Given the description of an element on the screen output the (x, y) to click on. 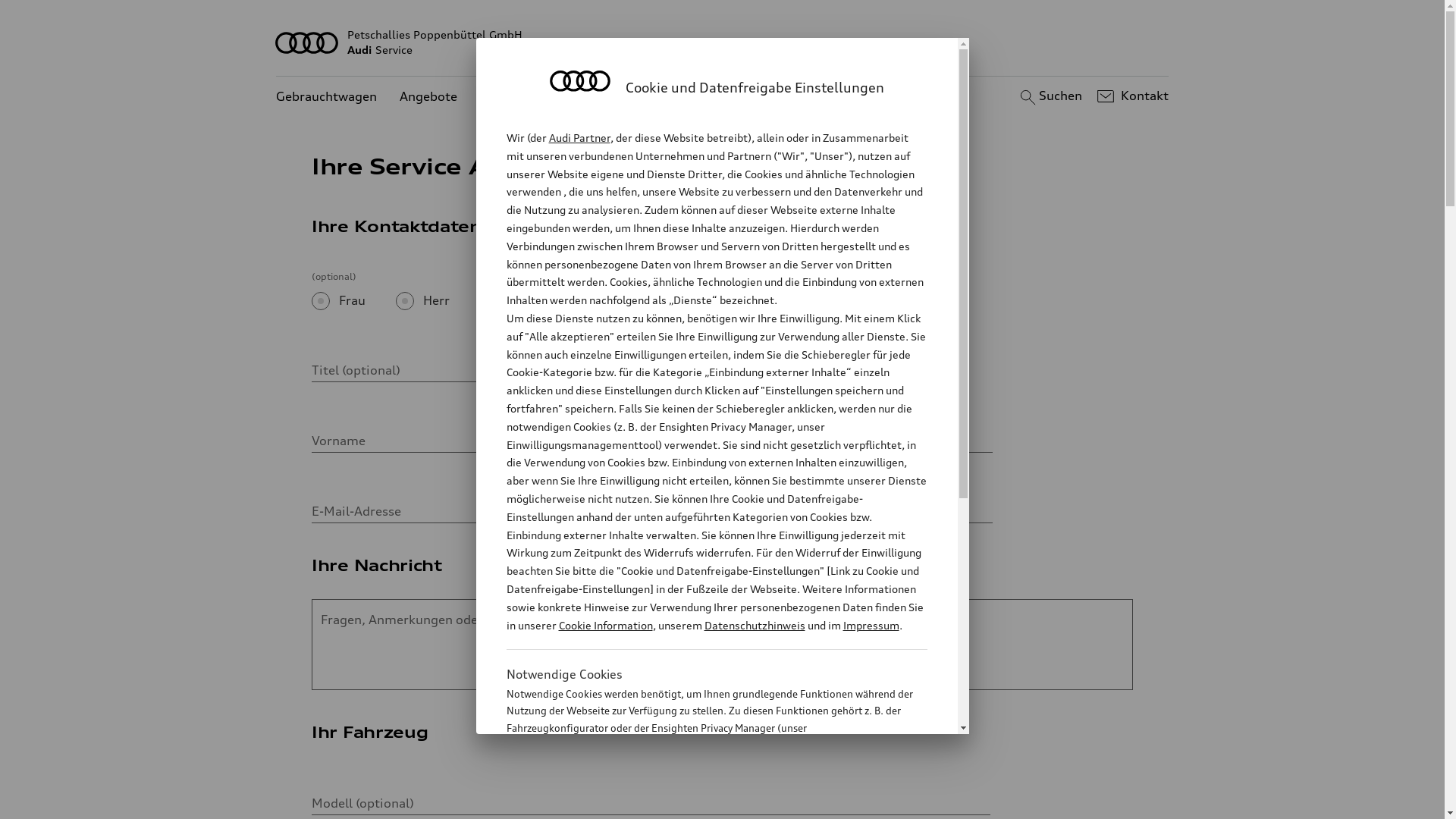
Cookie Information Element type: text (605, 624)
Cookie Information Element type: text (700, 802)
Gebrauchtwagen Element type: text (326, 96)
Datenschutzhinweis Element type: text (753, 624)
Impressum Element type: text (871, 624)
Angebote Element type: text (428, 96)
Kundenservice Element type: text (523, 96)
Suchen Element type: text (1049, 96)
Kontakt Element type: text (1130, 96)
Audi Partner Element type: text (579, 137)
